Given the description of an element on the screen output the (x, y) to click on. 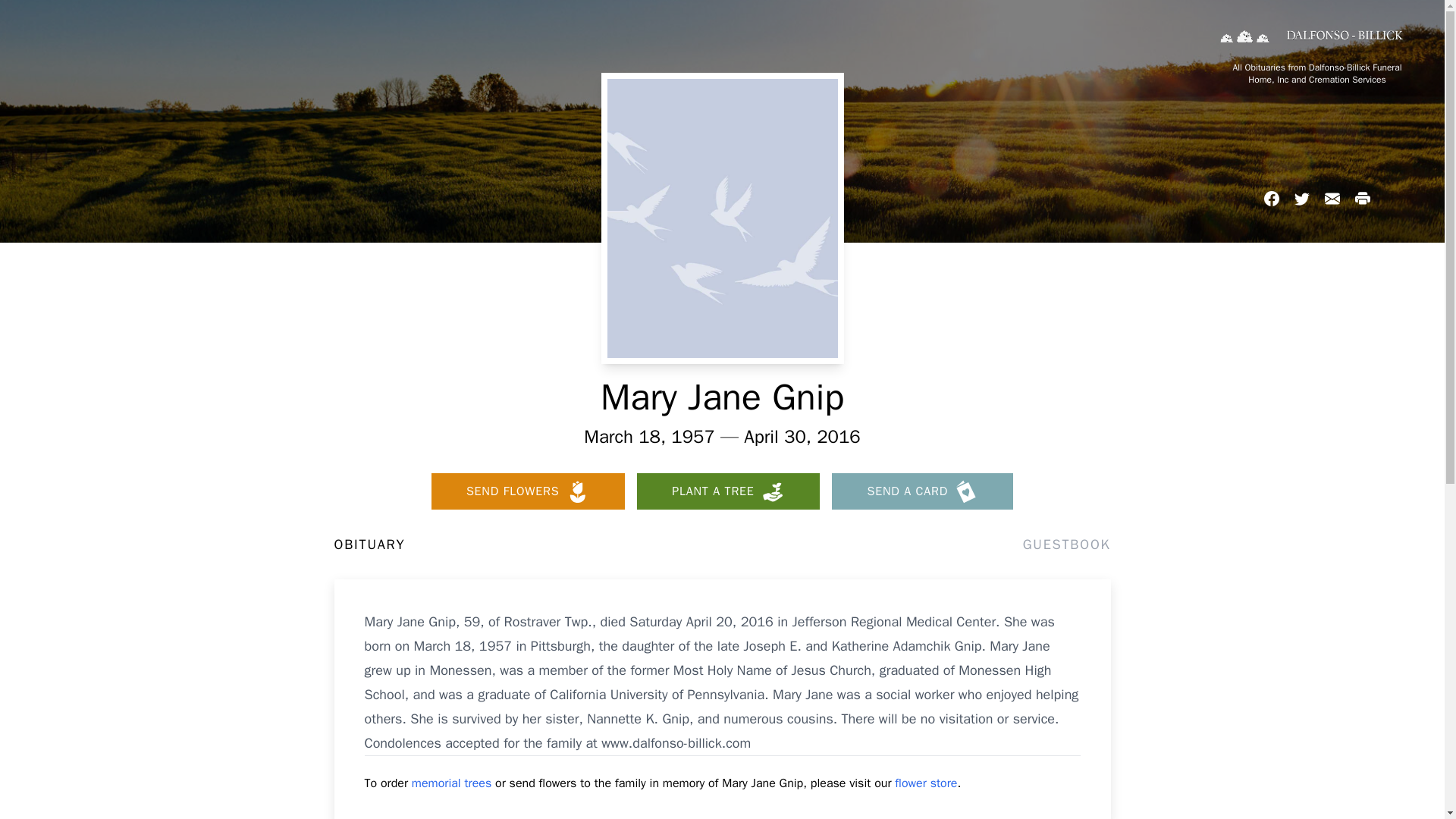
PLANT A TREE (728, 491)
memorial trees (452, 783)
SEND A CARD (922, 491)
OBITUARY (368, 544)
GUESTBOOK (1066, 544)
SEND FLOWERS (527, 491)
flower store (925, 783)
